Given the description of an element on the screen output the (x, y) to click on. 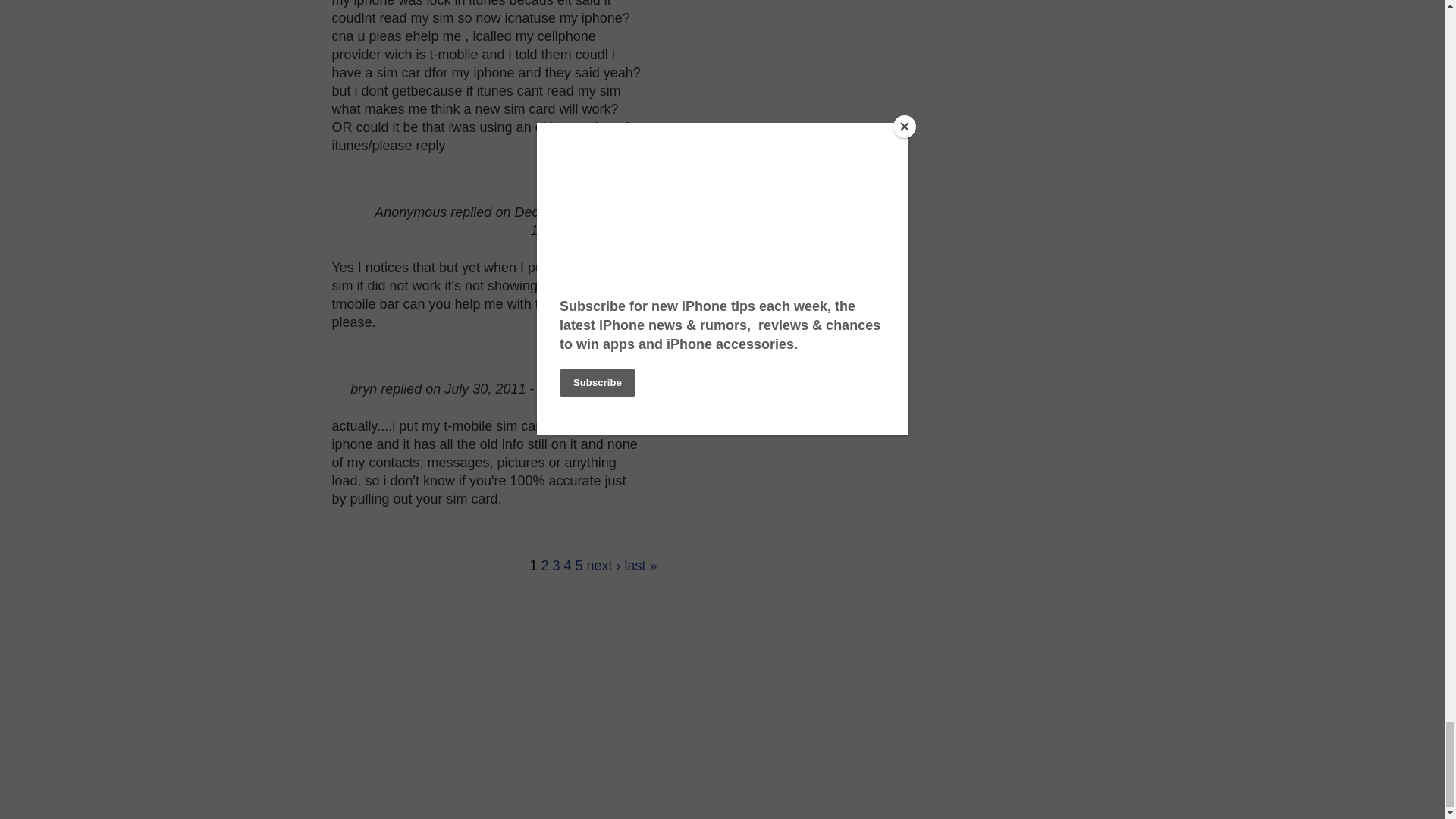
Go to page 2 (544, 565)
Go to page 4 (566, 565)
Go to next page (603, 565)
Go to page 5 (578, 565)
Go to page 3 (555, 565)
Go to last page (641, 565)
